Given the description of an element on the screen output the (x, y) to click on. 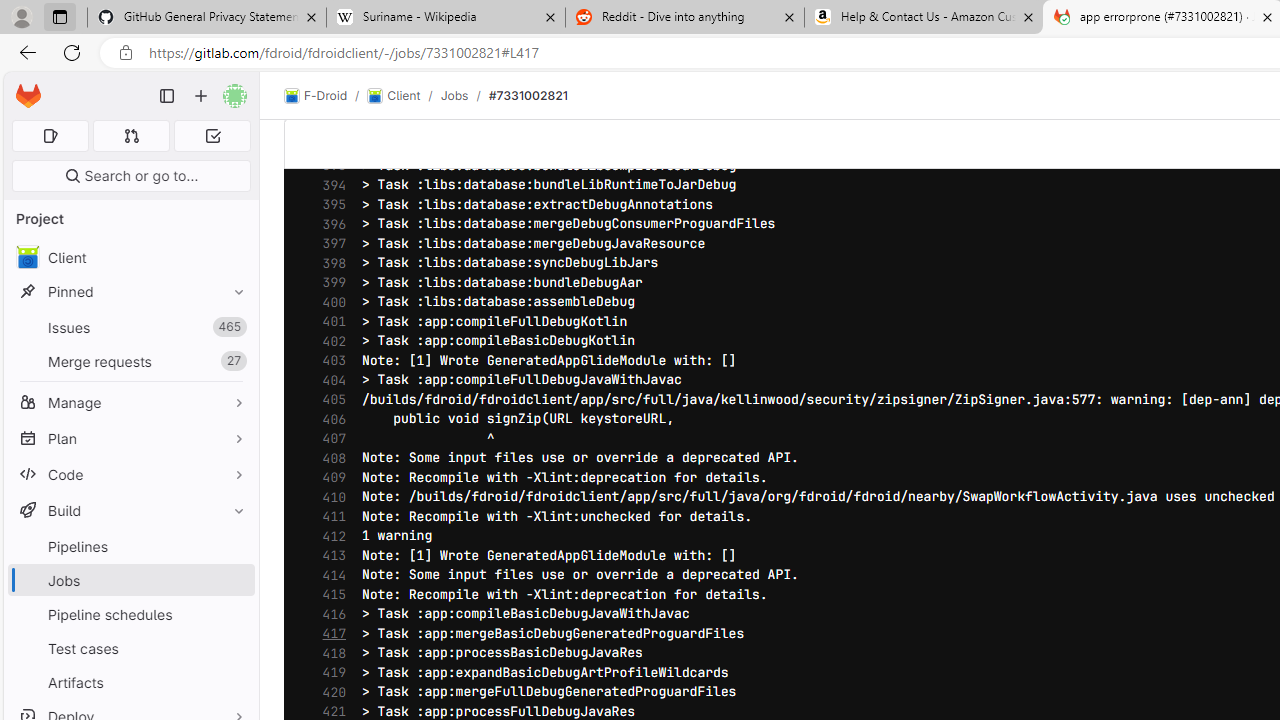
Issues465 (130, 327)
Plan (130, 438)
avatar Client (130, 257)
408 (329, 457)
395 (329, 205)
398 (329, 263)
Artifacts (130, 682)
393 (329, 165)
Artifacts (130, 682)
403 (329, 360)
avatar (27, 257)
Pinned (130, 291)
Pin Pipelines (234, 546)
Issues 465 (130, 327)
